Given the description of an element on the screen output the (x, y) to click on. 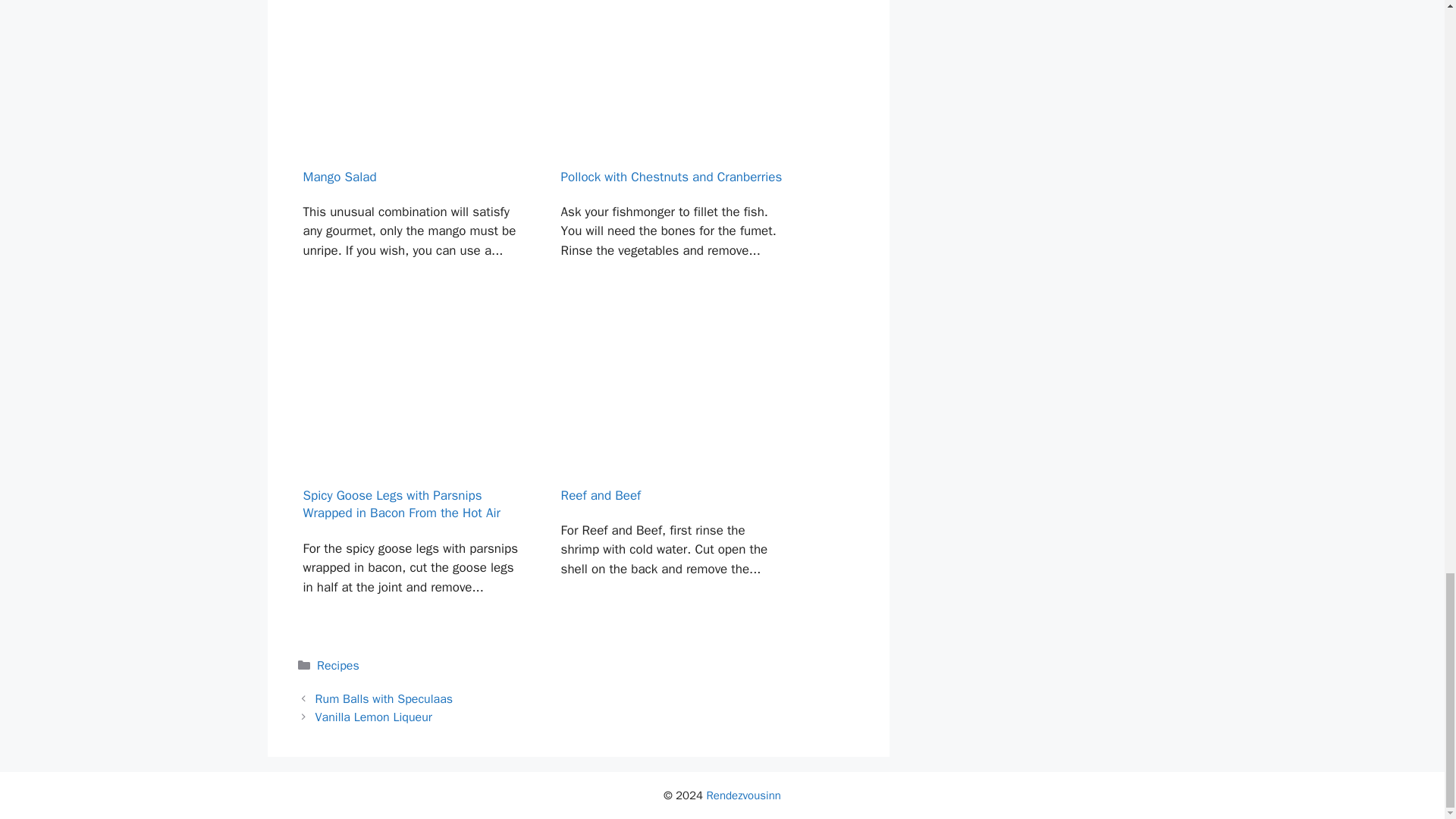
Rum Balls with Speculaas (383, 698)
Vanilla Lemon Liqueur (373, 717)
Recipes (338, 665)
